Given the description of an element on the screen output the (x, y) to click on. 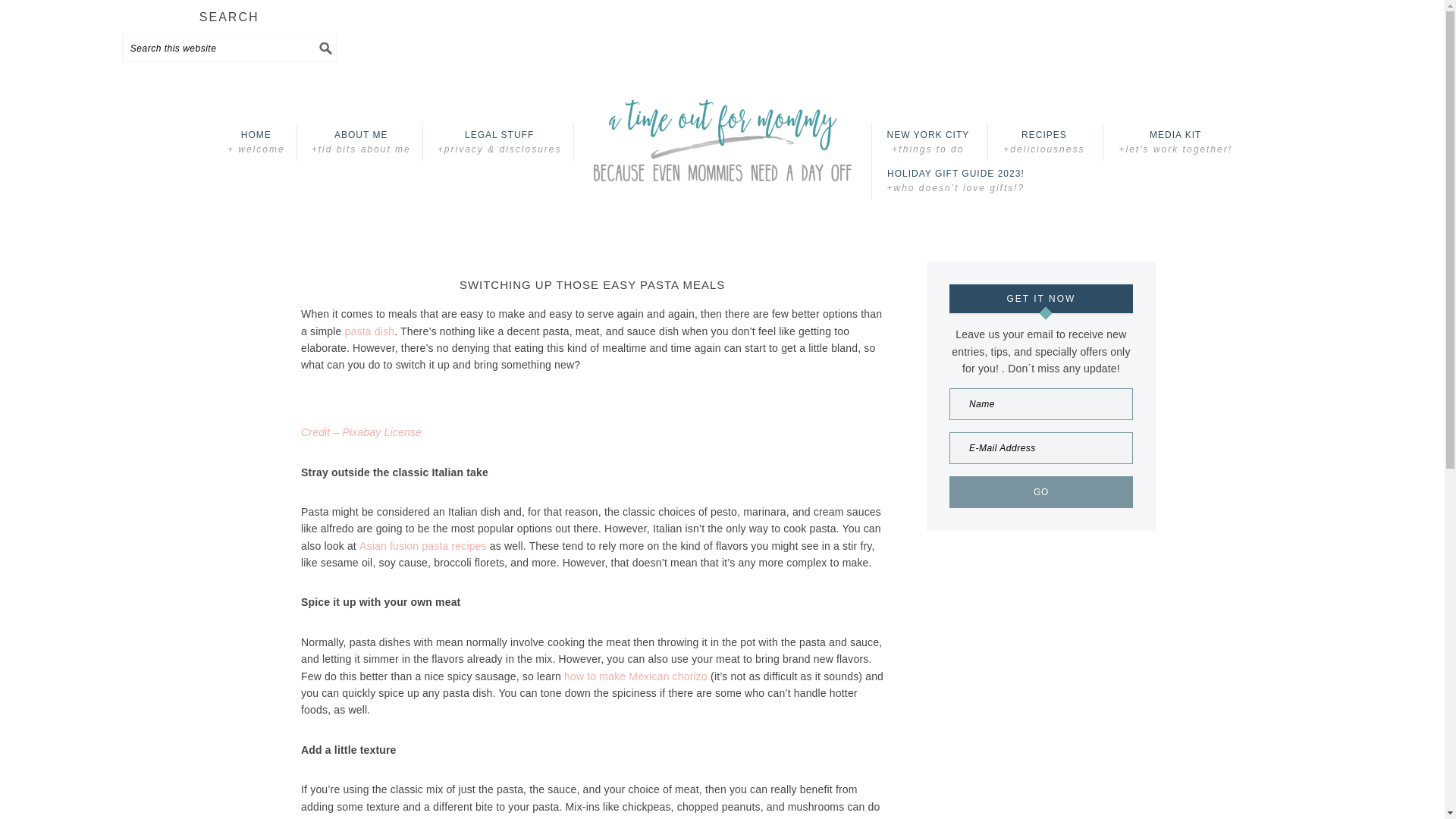
Go (1040, 491)
how to make Mexican chorizo (635, 676)
A TIME OUT FOR MOMMY (722, 142)
Asian fusion pasta recipes (422, 545)
pasta dish (369, 331)
